Given the description of an element on the screen output the (x, y) to click on. 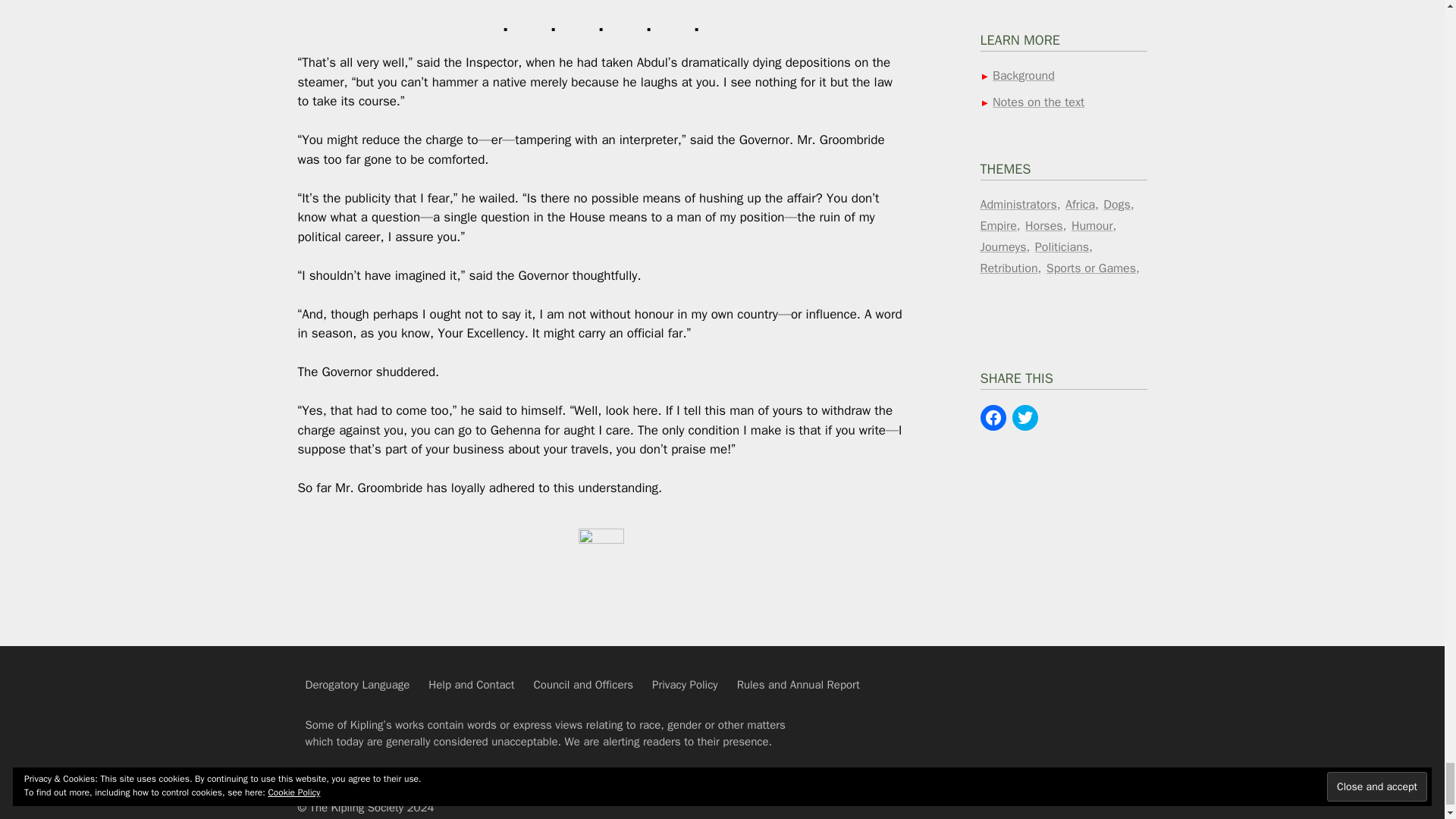
Privacy Policy (684, 684)
Facebook (1112, 694)
Twitter (1016, 732)
Derogatory Language (356, 684)
Council and Officers (583, 684)
Help and Contact (470, 684)
Rules and Annual Report (798, 684)
Instagram (1064, 732)
Spotify (1064, 694)
YouTube (1016, 694)
